Given the description of an element on the screen output the (x, y) to click on. 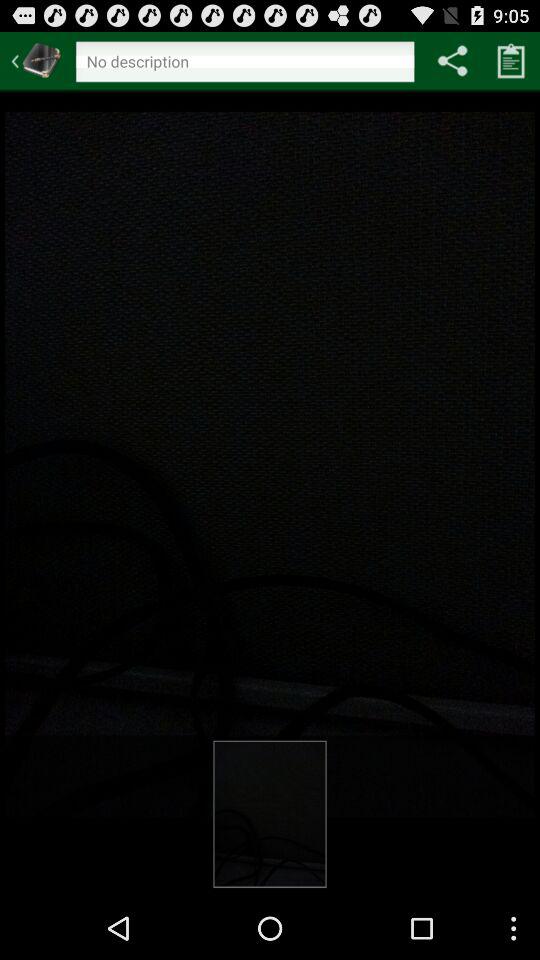
enter search term (244, 64)
